Given the description of an element on the screen output the (x, y) to click on. 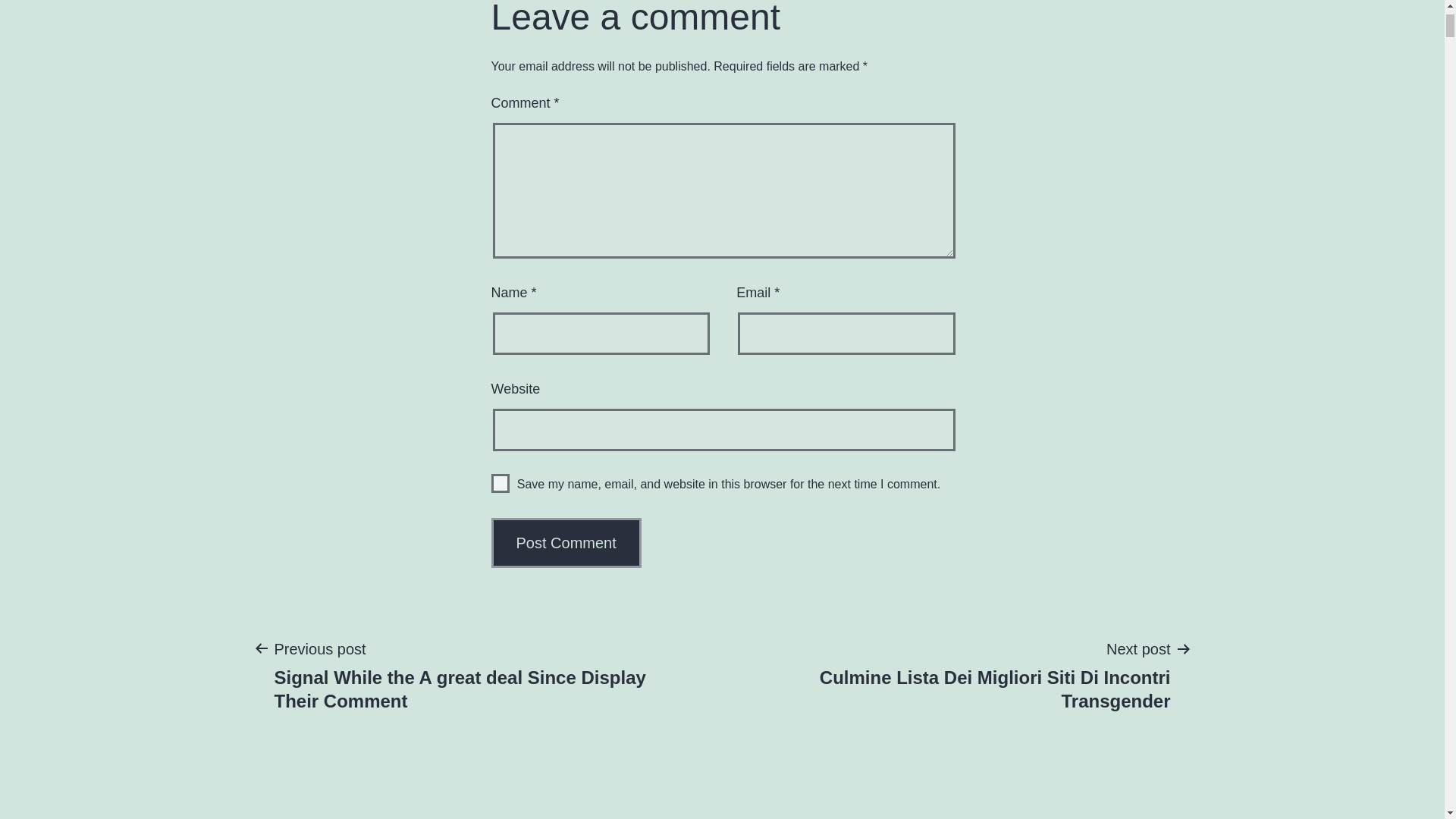
Post Comment (567, 542)
Post Comment (567, 542)
yes (500, 483)
